Given the description of an element on the screen output the (x, y) to click on. 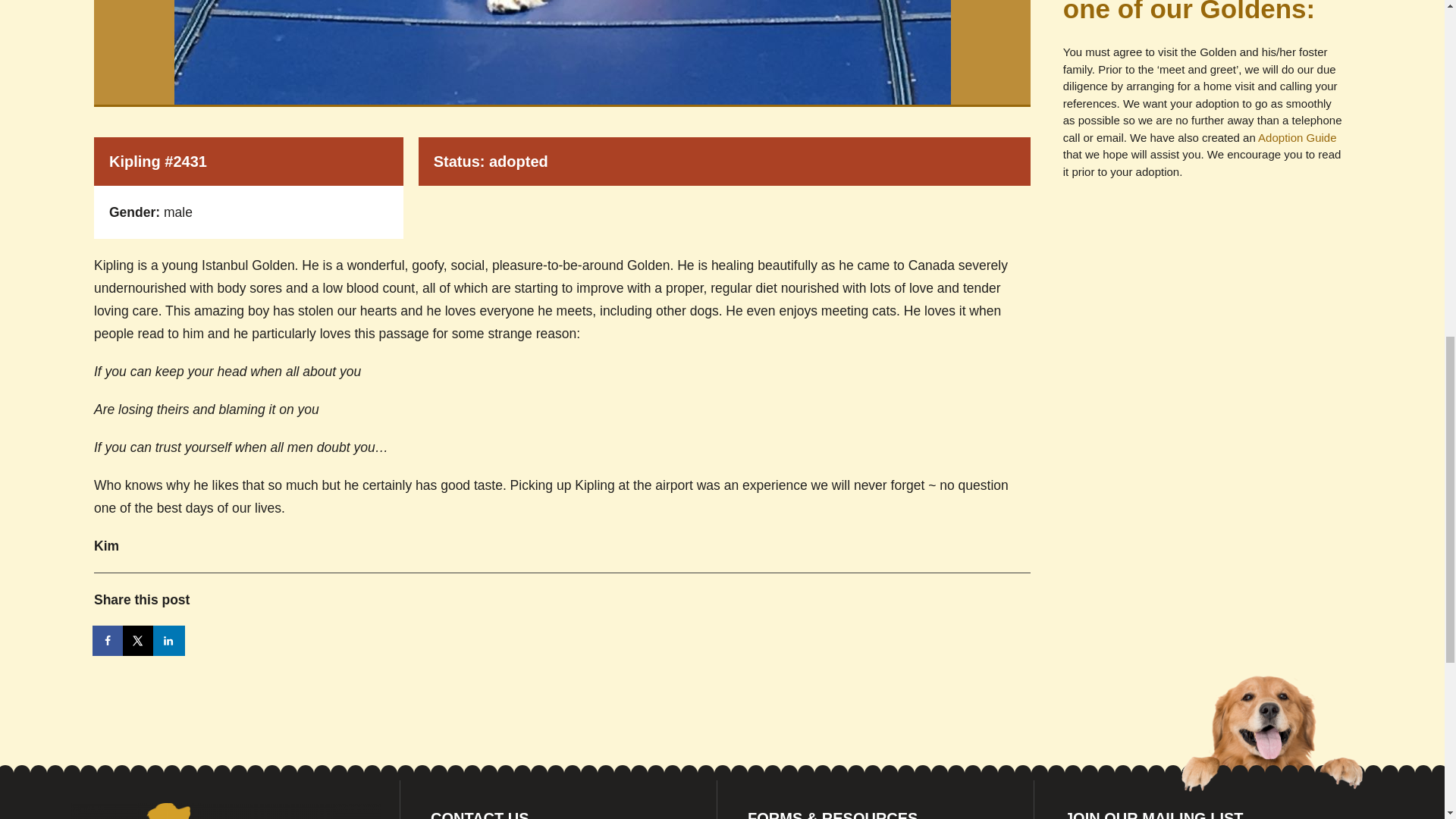
Share on X (138, 640)
Share on Facebook (108, 640)
Share on LinkedIn (169, 640)
